Given the description of an element on the screen output the (x, y) to click on. 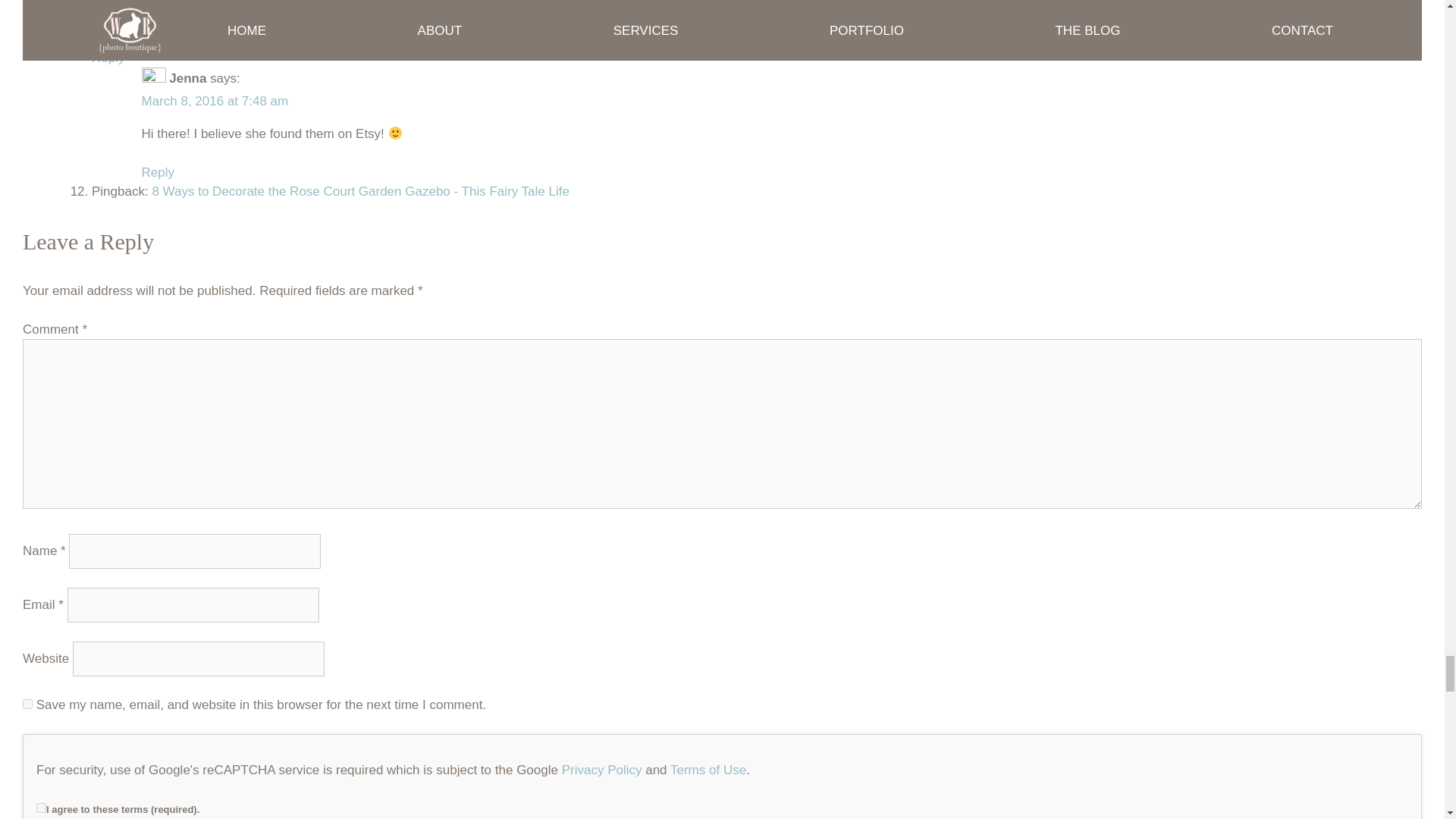
on (41, 808)
yes (27, 704)
